Given the description of an element on the screen output the (x, y) to click on. 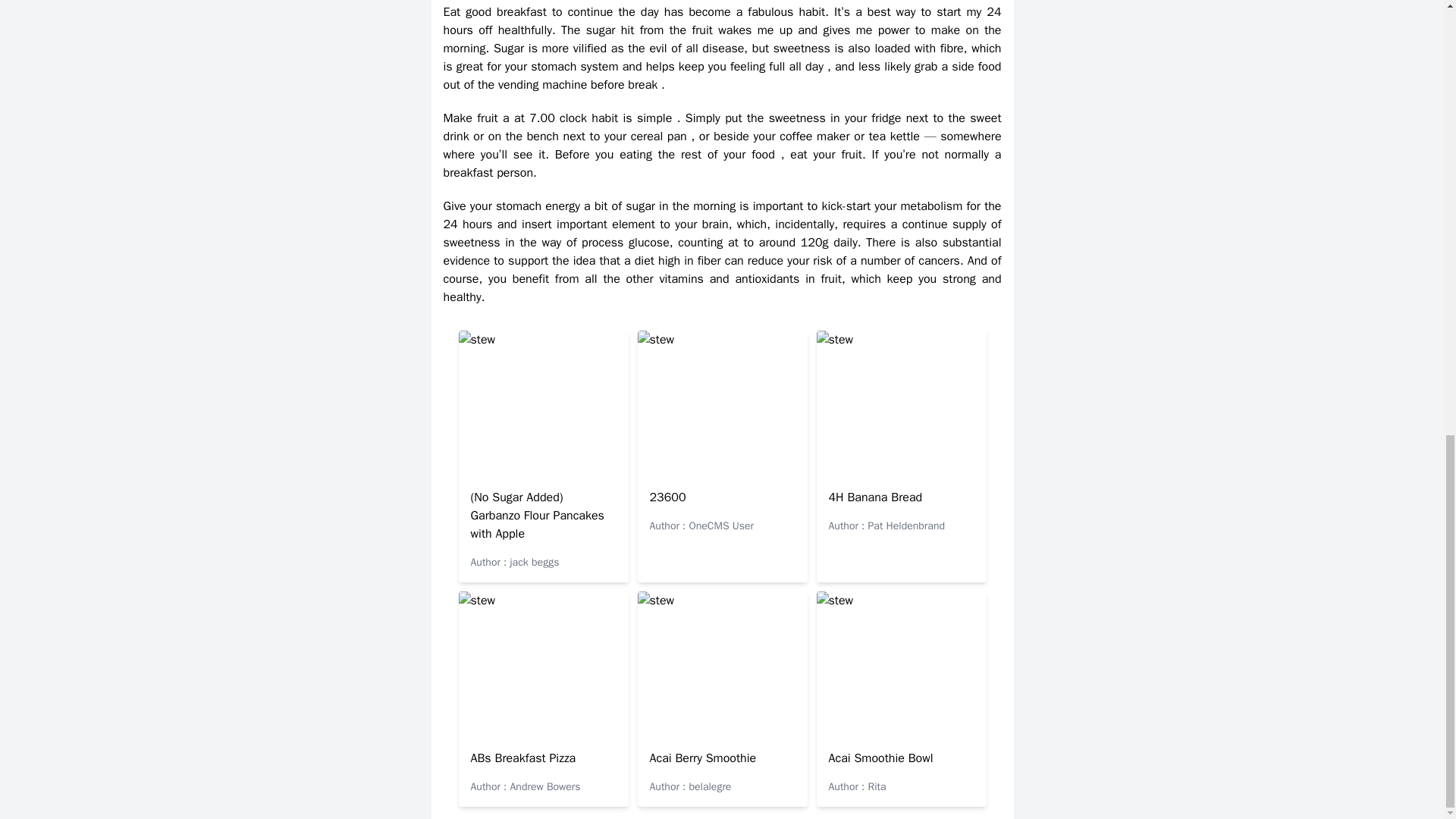
Acai Berry Smoothie (702, 758)
Acai Smoothie Bowl (880, 758)
23600 (667, 497)
4H Banana Bread (874, 497)
ABs Breakfast Pizza (522, 758)
